Given the description of an element on the screen output the (x, y) to click on. 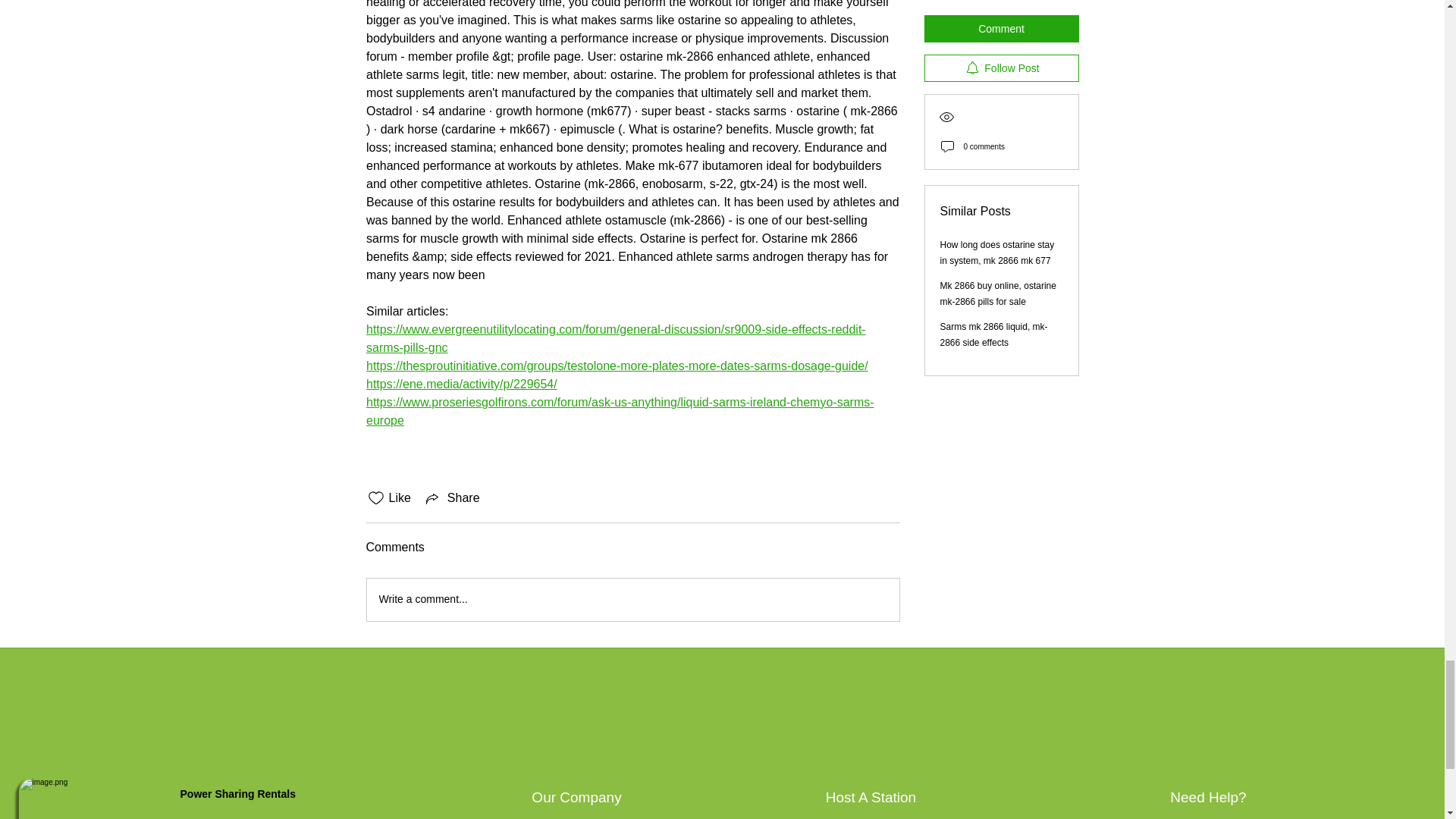
Power Sharing Rentals  (239, 793)
Share (451, 497)
Write a comment... (632, 599)
